Given the description of an element on the screen output the (x, y) to click on. 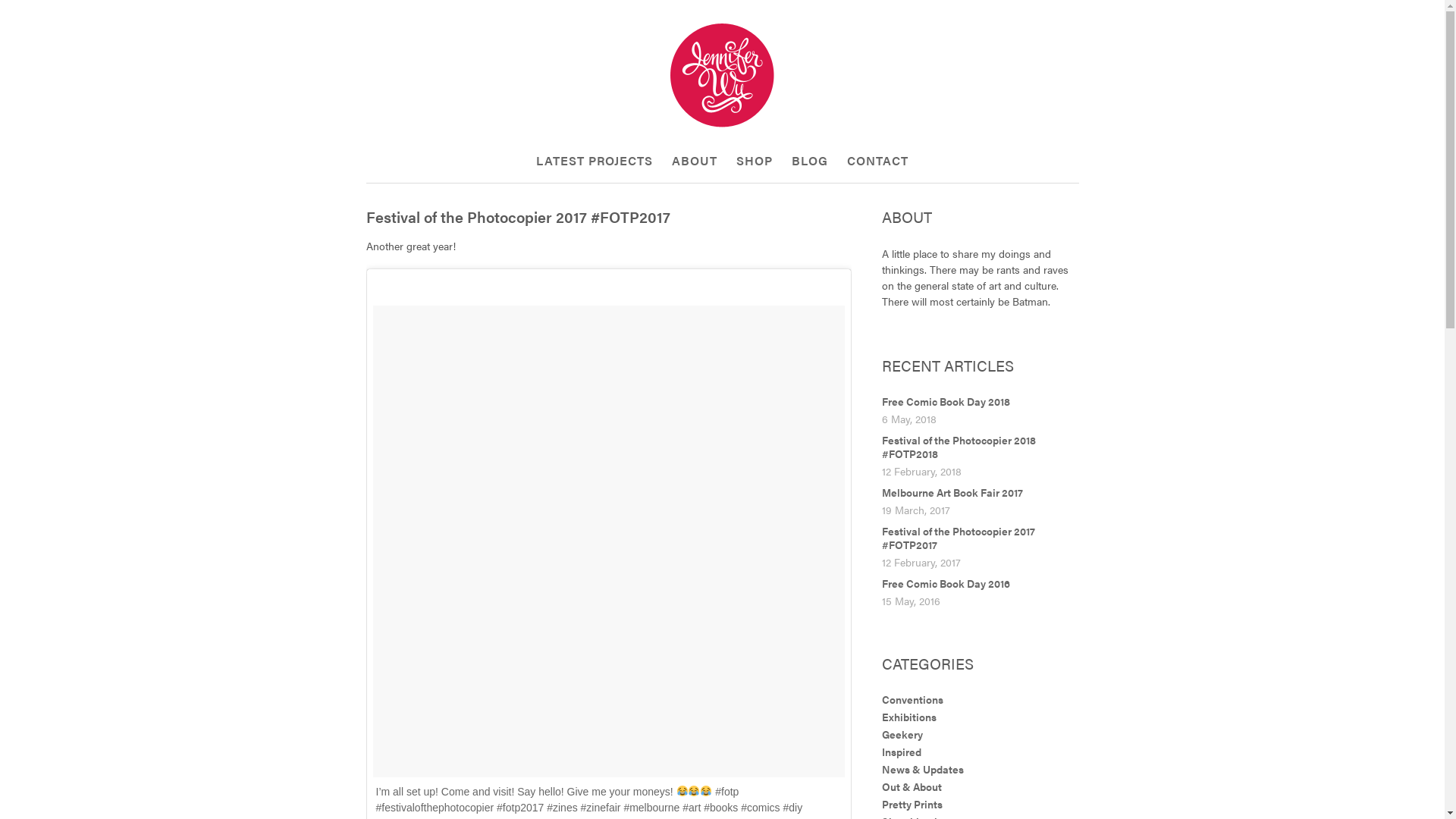
ABOUT Element type: text (694, 160)
Free Comic Book Day 2018 Element type: text (945, 400)
Festival of the Photocopier 2018 #FOTP2018 Element type: text (958, 446)
Pretty Prints Element type: text (911, 803)
Conventions Element type: text (911, 698)
BLOG Element type: text (809, 160)
Inspired Element type: text (900, 751)
Exhibitions Element type: text (908, 716)
CONTACT Element type: text (877, 160)
News & Updates Element type: text (922, 768)
SHOP Element type: text (754, 160)
Out & About Element type: text (911, 785)
Melbourne Art Book Fair 2017 Element type: text (951, 491)
Festival of the Photocopier 2017 #FOTP2017 Element type: text (957, 537)
Geekery Element type: text (901, 733)
Free Comic Book Day 2016 Element type: text (945, 582)
LATEST PROJECTS Element type: text (594, 160)
